Given the description of an element on the screen output the (x, y) to click on. 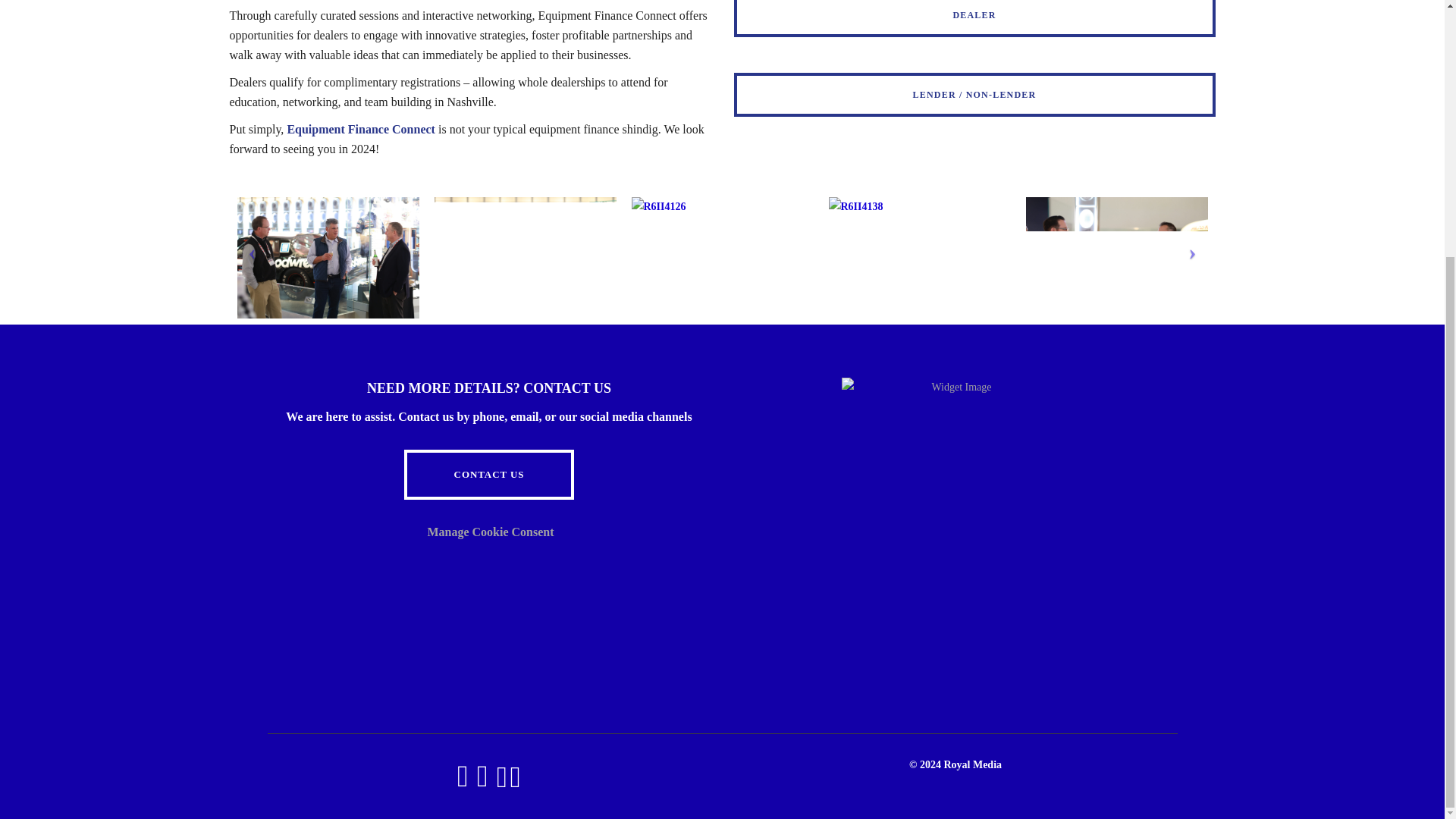
R6II4165 (1116, 257)
R6II4126 (657, 207)
R6II4123 (524, 257)
R6II4138 (855, 207)
R6II4097 (327, 257)
DEALER (974, 18)
